Given the description of an element on the screen output the (x, y) to click on. 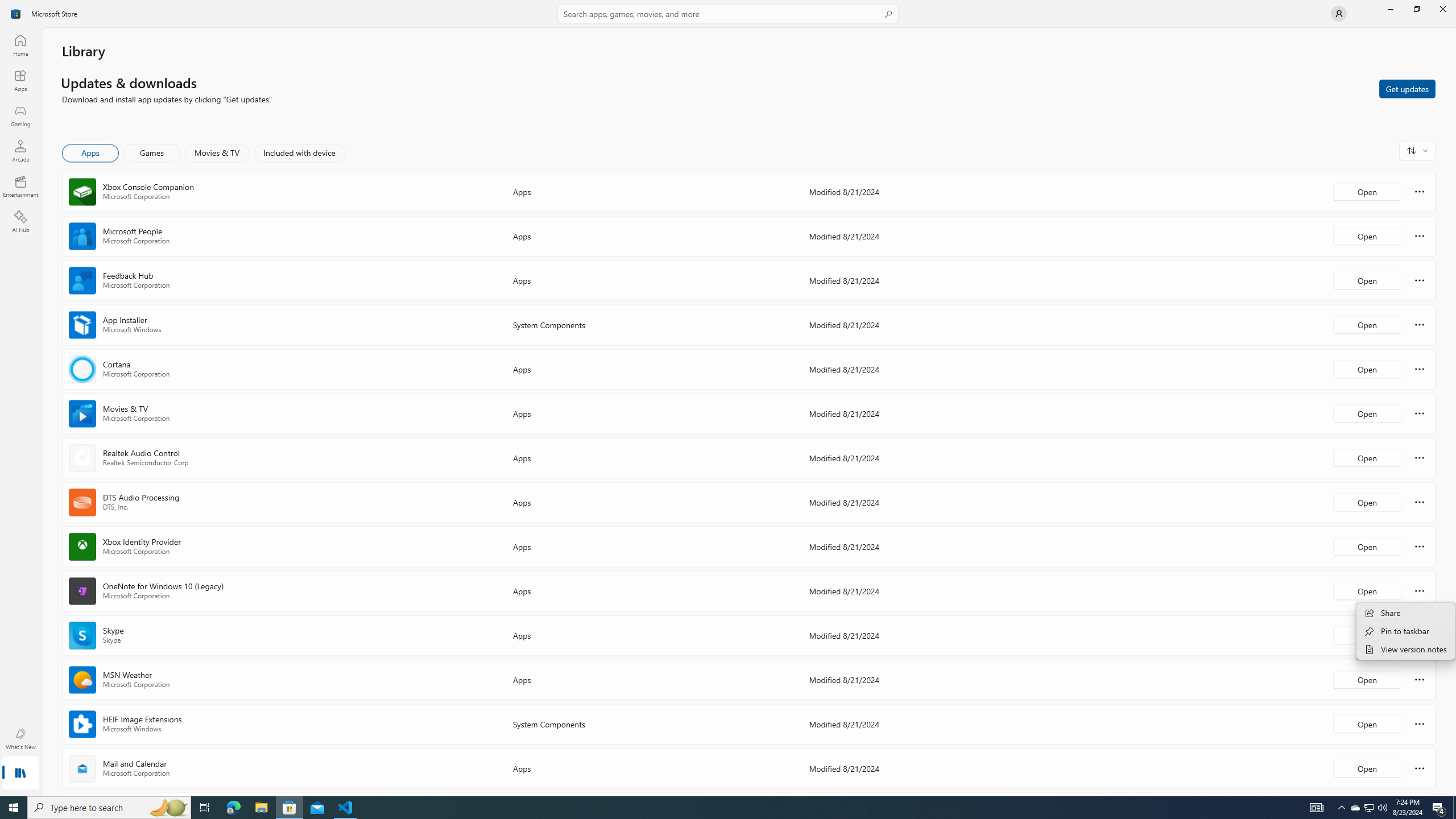
Get updates (1406, 88)
Library (20, 773)
Minimize Microsoft Store (1390, 9)
AutomationID: NavigationControl (728, 398)
Class: Image (15, 13)
What's New (20, 738)
AI Hub (20, 221)
User profile (1338, 13)
